Given the description of an element on the screen output the (x, y) to click on. 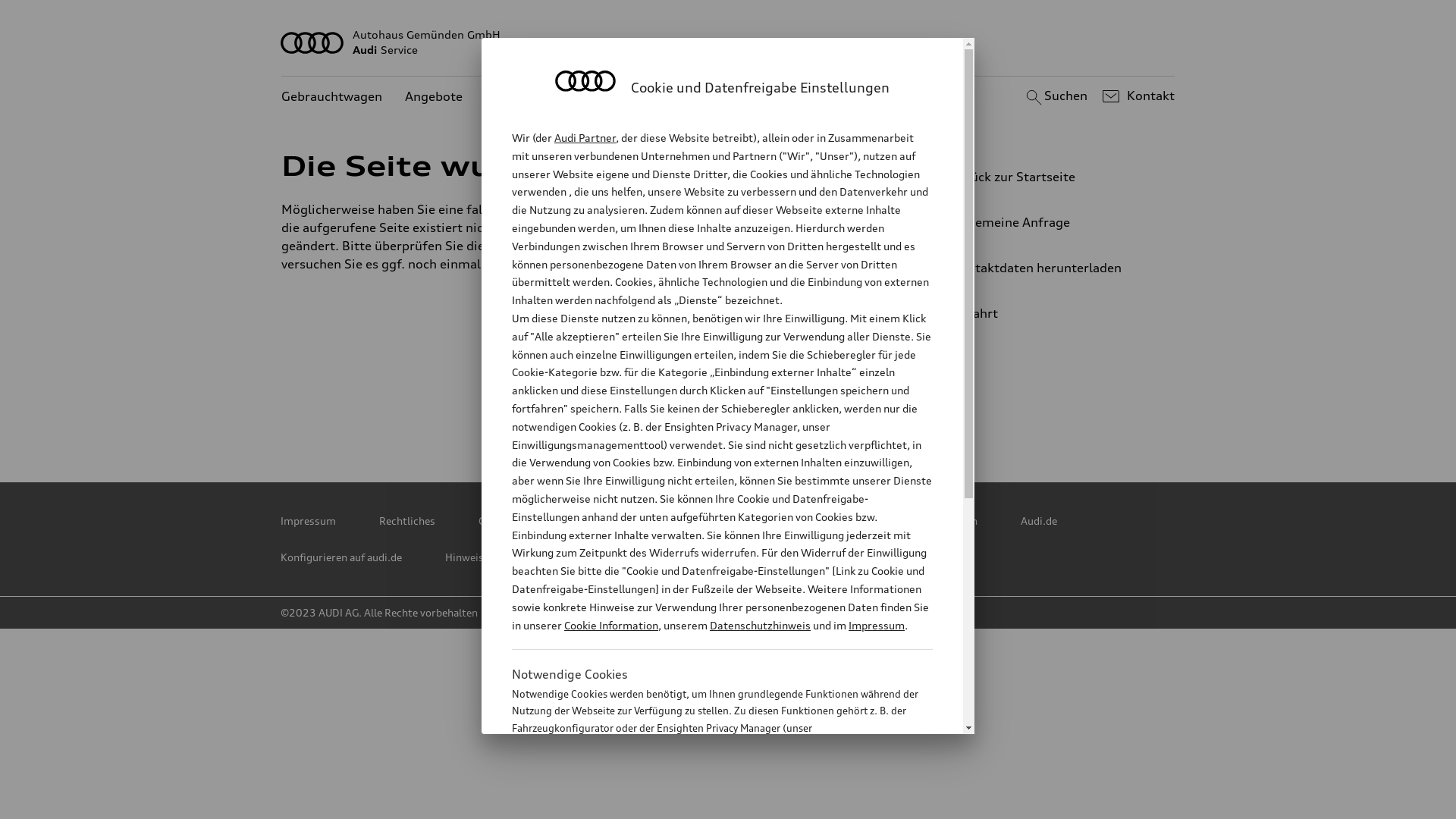
Allgemeine Anfrage Element type: text (1043, 222)
Kontaktdaten herunterladen Element type: text (1043, 267)
Kundenservice Element type: text (528, 96)
Pinterest Element type: hover (663, 410)
Datenschutzhinweis Element type: text (759, 624)
Hinweisgebersystem Element type: text (495, 557)
Angebote Element type: text (433, 96)
Impressum Element type: text (307, 520)
Audi Partner Element type: text (584, 137)
Cookie Information Element type: text (705, 802)
Facebook Element type: hover (730, 410)
Gebrauchtwagen Element type: text (331, 96)
Kontakt Element type: text (1135, 96)
Konfigurieren auf audi.de Element type: text (340, 557)
Cookie Information Element type: text (611, 624)
Cookie Policy Element type: text (711, 520)
Rechtliches Element type: text (407, 520)
YouTube Element type: hover (796, 410)
Audi.de Element type: text (1038, 520)
Twitter Element type: hover (596, 410)
Suchen Element type: text (1054, 96)
Impressum Element type: text (876, 624)
Cookie und Datenfreigabe Einstellungen Element type: text (881, 520)
Instagram Element type: hover (863, 410)
Anfahrt Element type: text (1049, 313)
Copyright & Haftungsausschluss Element type: text (557, 520)
